Given the description of an element on the screen output the (x, y) to click on. 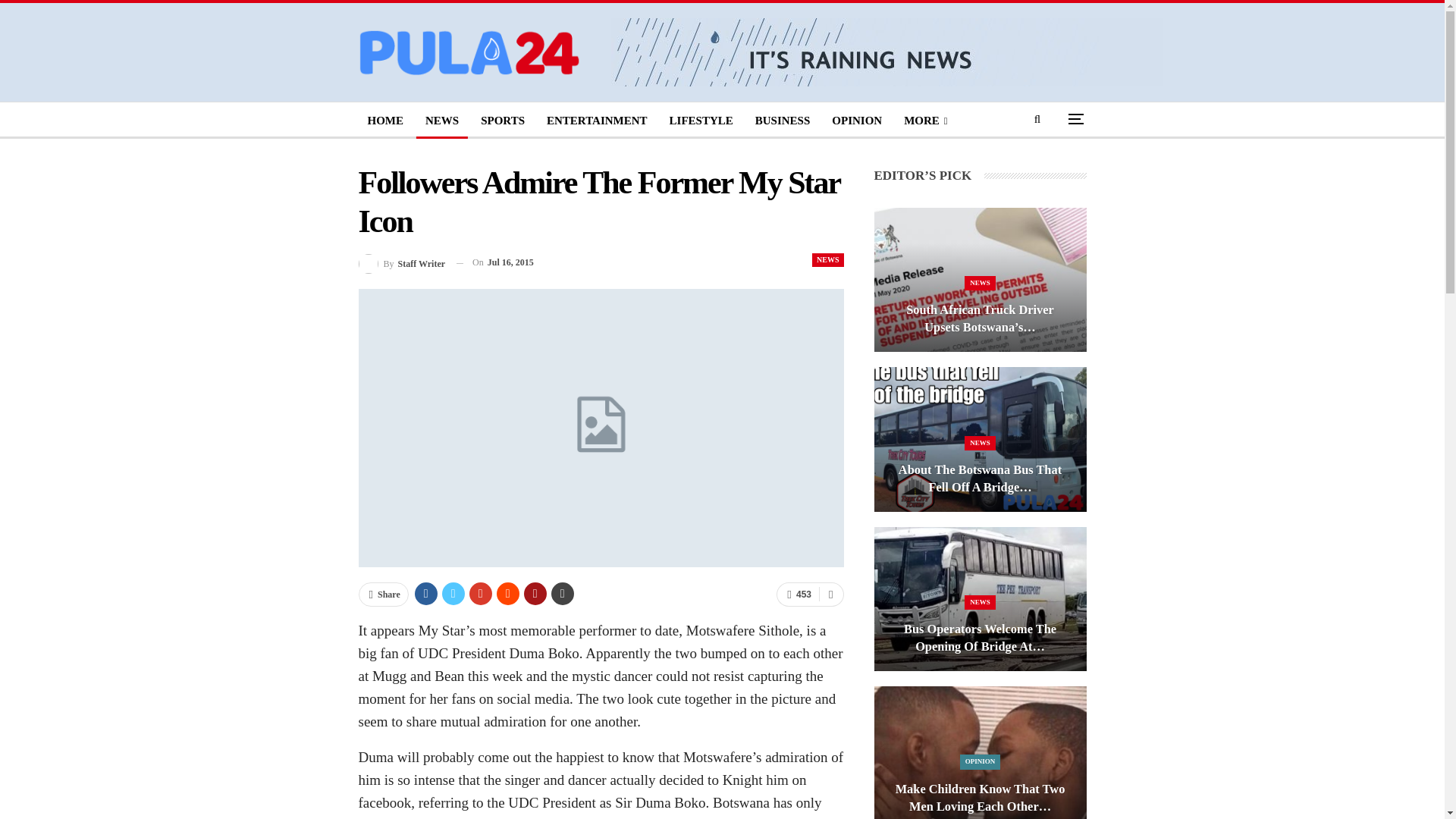
By Staff Writer (401, 262)
HOME (385, 120)
NEWS (441, 120)
SPORTS (502, 120)
NEWS (827, 259)
LIFESTYLE (701, 120)
BUSINESS (782, 120)
MORE (925, 120)
Browse Author Articles (401, 262)
ENTERTAINMENT (596, 120)
OPINION (856, 120)
